Given the description of an element on the screen output the (x, y) to click on. 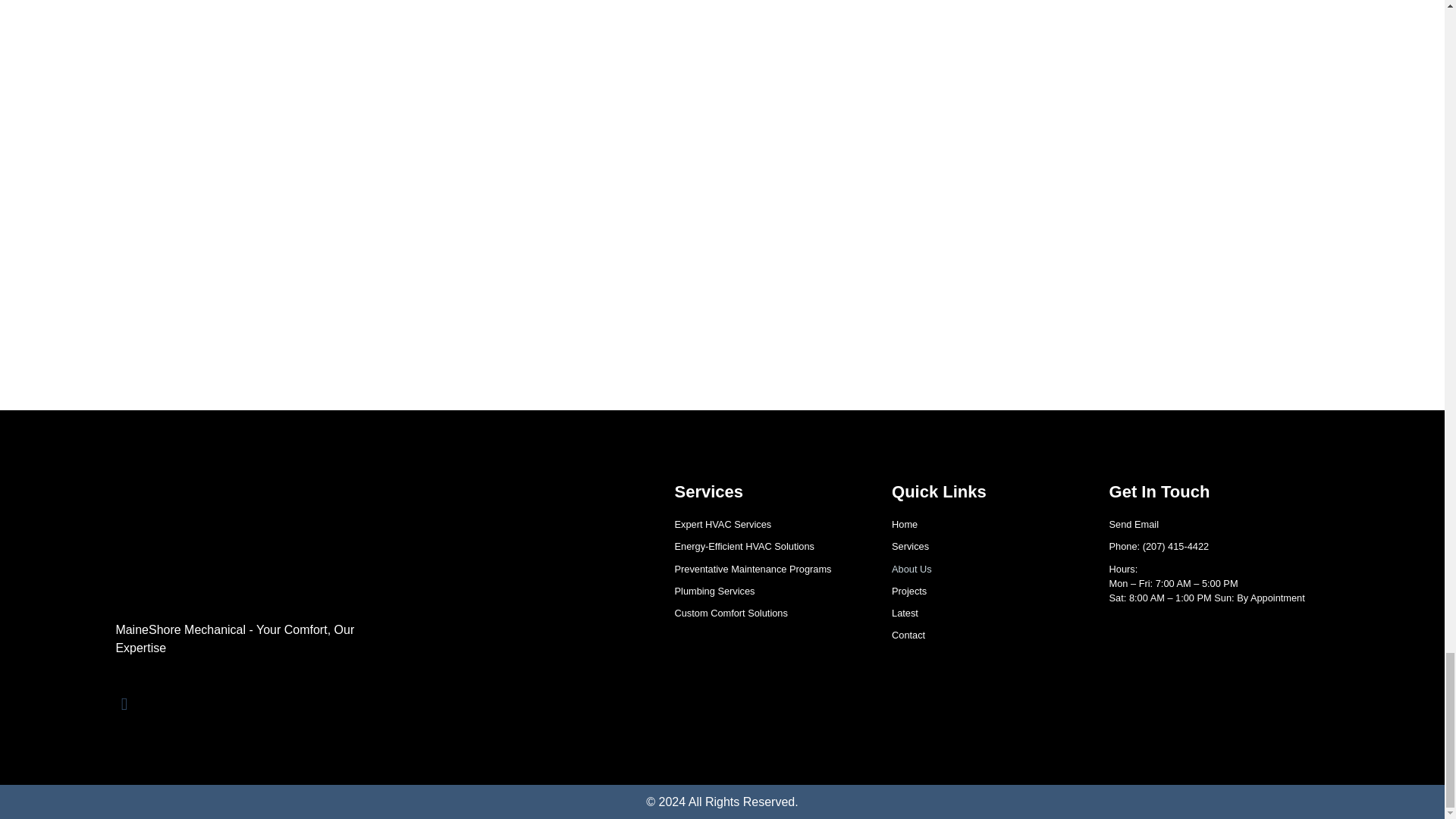
Preventative Maintenance Programs (768, 568)
Energy-Efficient HVAC Solutions (768, 545)
Expert HVAC Services (768, 523)
